Given the description of an element on the screen output the (x, y) to click on. 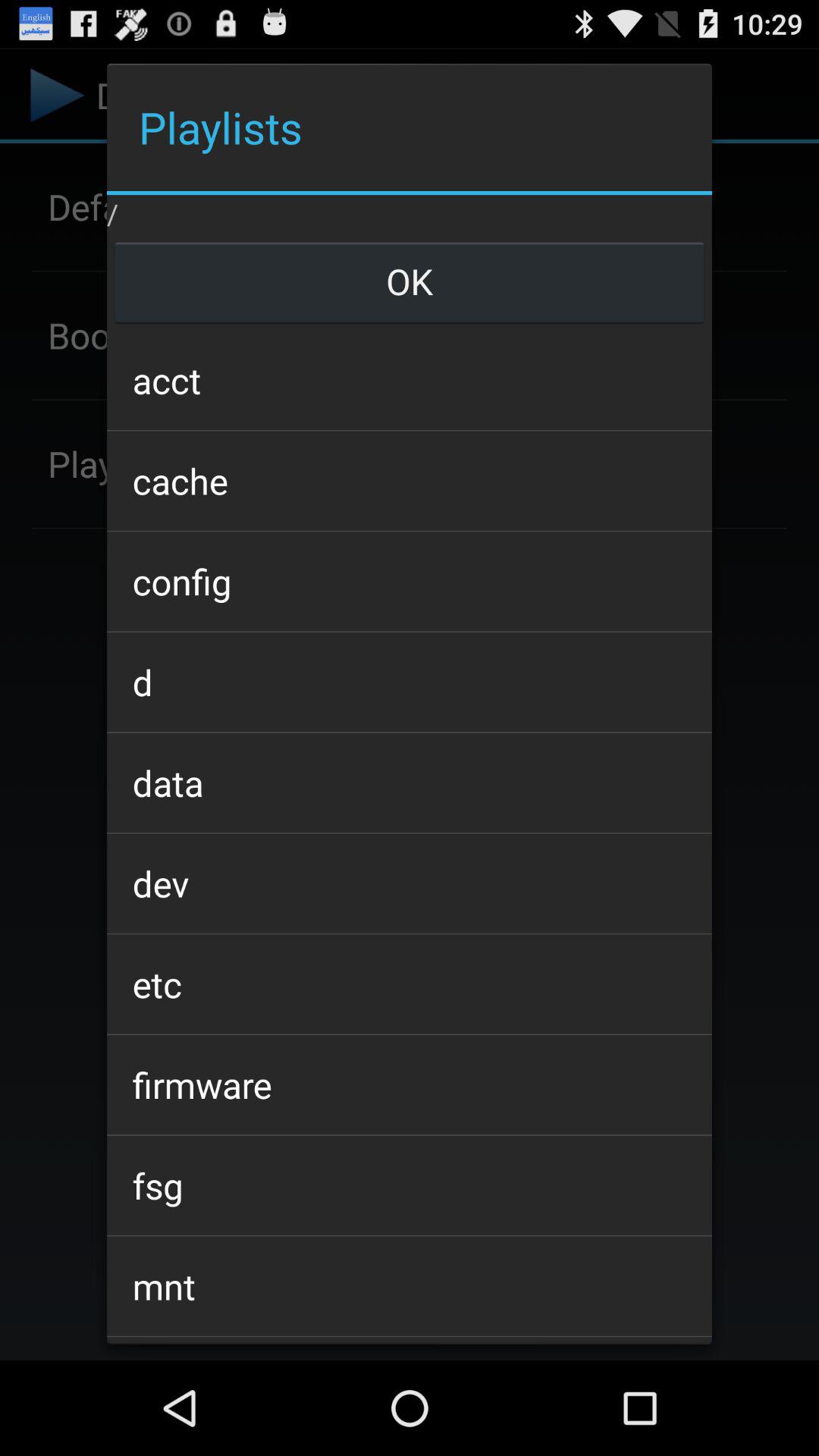
select firmware icon (409, 1084)
